Given the description of an element on the screen output the (x, y) to click on. 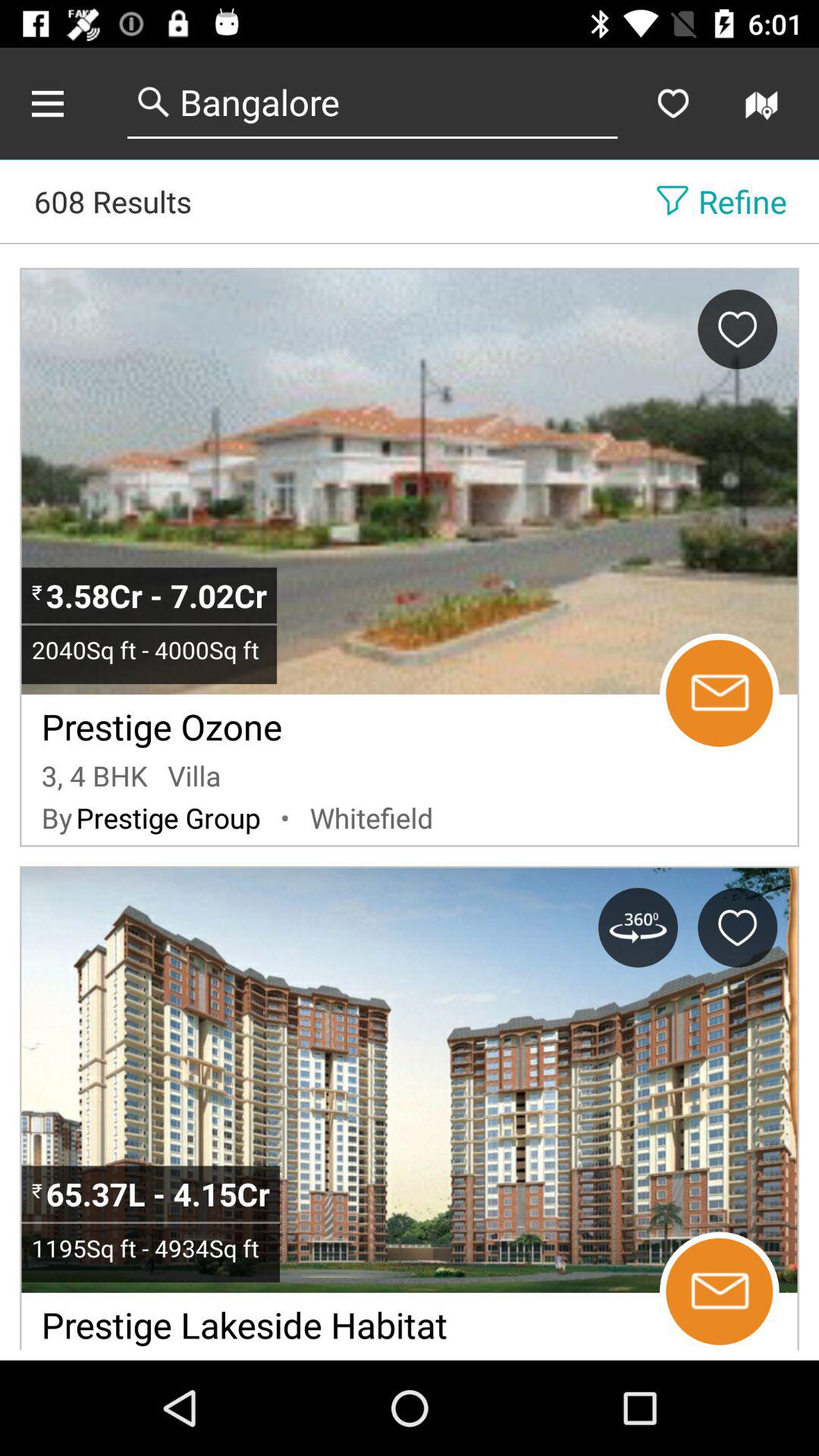
buscar una vivienda (764, 103)
